Given the description of an element on the screen output the (x, y) to click on. 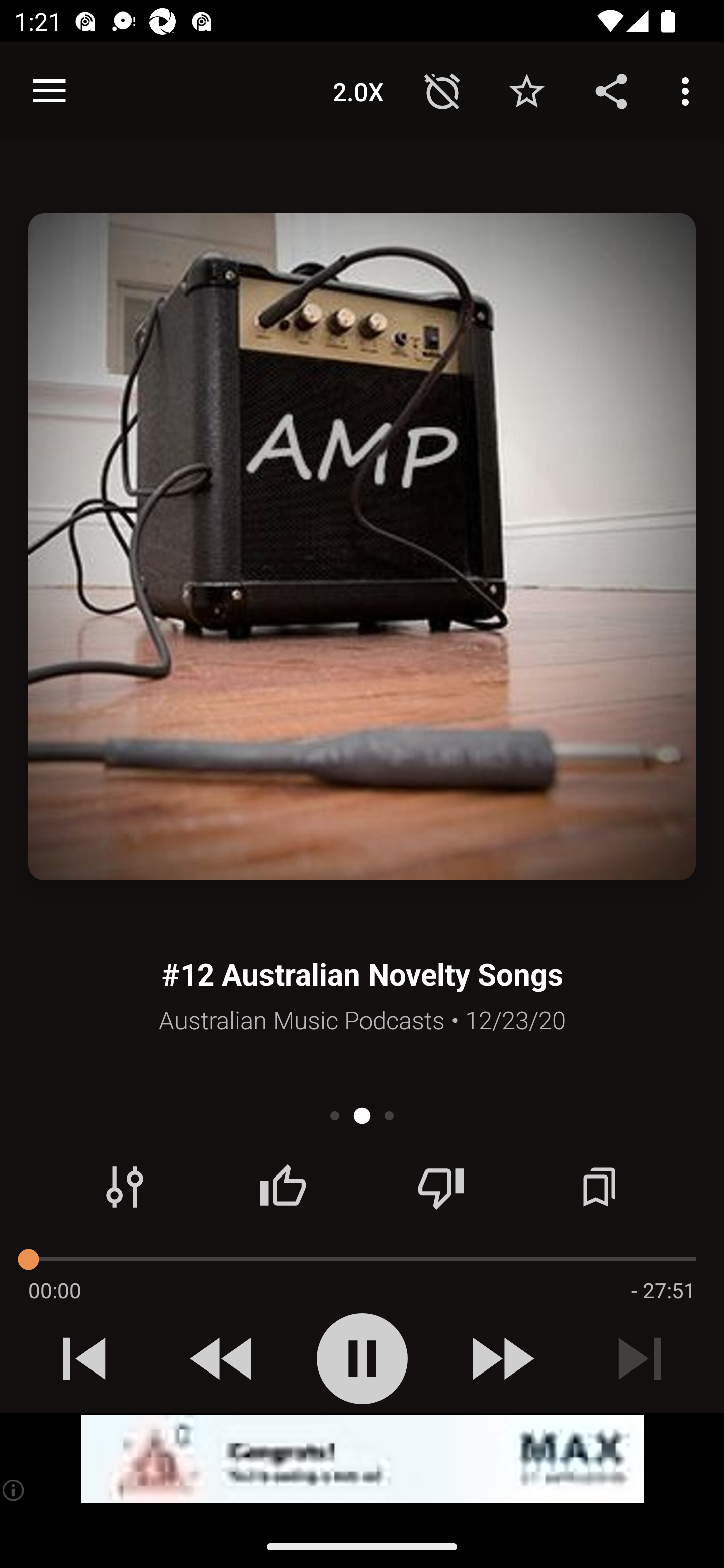
Open navigation sidebar (49, 91)
2.0X (357, 90)
Sleep Timer (442, 90)
Favorite (526, 90)
Share (611, 90)
More options (688, 90)
Episode description (361, 547)
Audio effects (124, 1186)
Thumbs up (283, 1186)
Thumbs down (440, 1186)
Chapters / Bookmarks (598, 1186)
- 27:51 (663, 1289)
Previous track (84, 1358)
Skip 15s backward (222, 1358)
Play / Pause (362, 1358)
Skip 30s forward (500, 1358)
Next track (639, 1358)
app-monetization (362, 1459)
(i) (14, 1489)
